Given the description of an element on the screen output the (x, y) to click on. 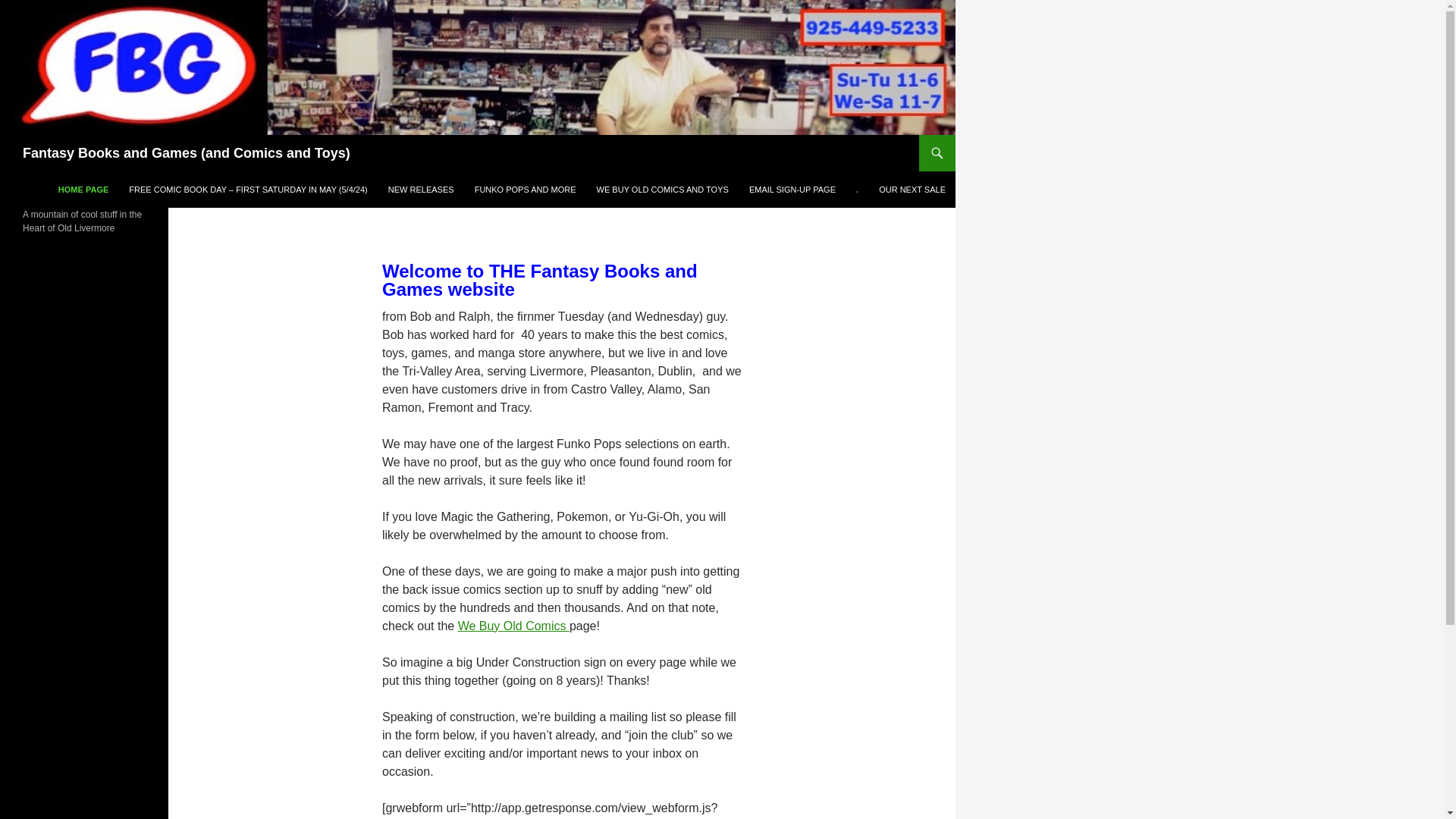
FUNKO POPS AND MORE (525, 189)
EMAIL SIGN-UP PAGE (791, 189)
WE BUY OLD COMICS AND TOYS (663, 189)
We Buy Old Comics (513, 625)
NEW RELEASES (420, 189)
HOME PAGE (83, 189)
OUR NEXT SALE (912, 189)
